Given the description of an element on the screen output the (x, y) to click on. 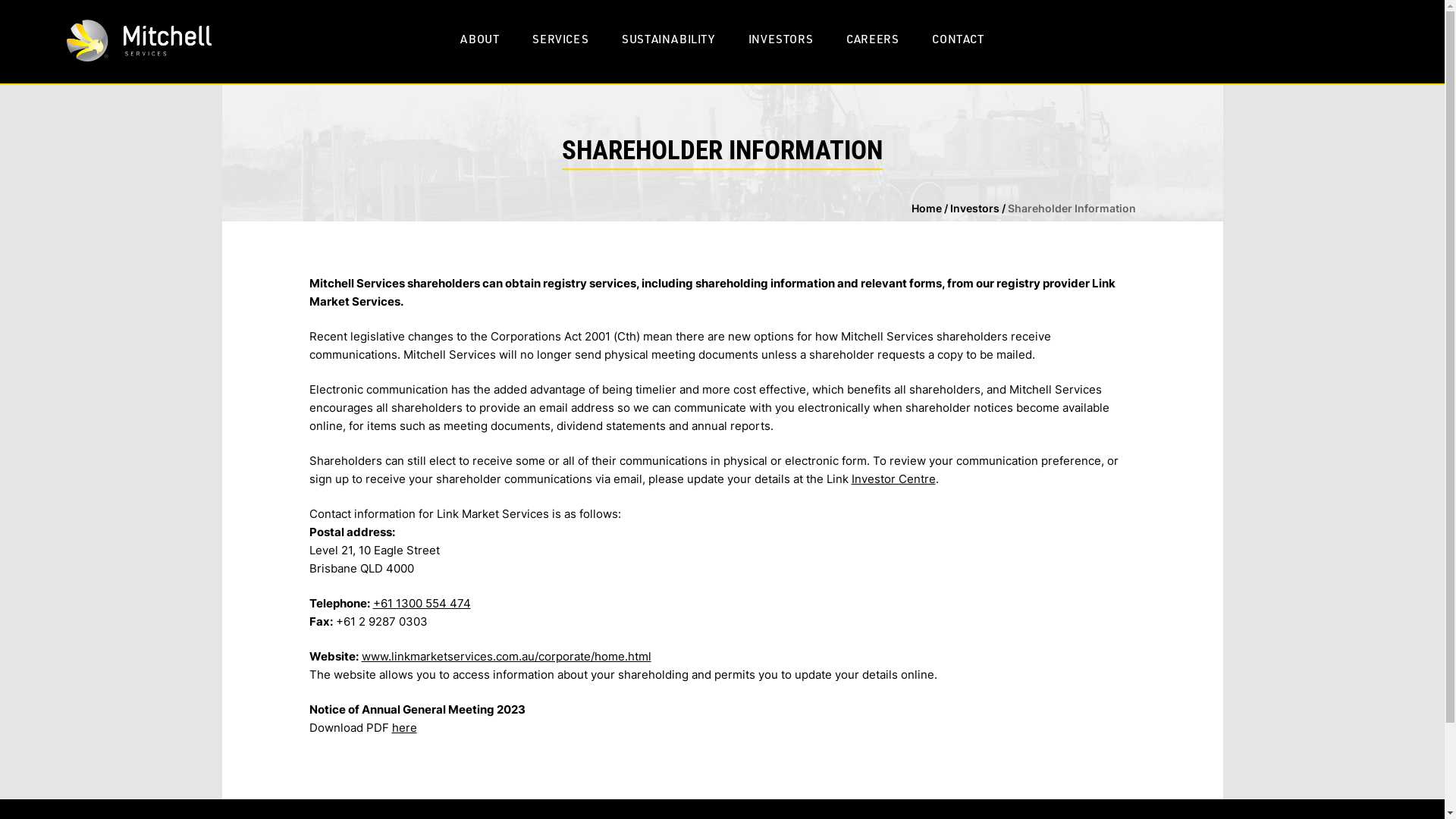
INVESTORS Element type: text (780, 38)
+61 1300 554 474 Element type: text (421, 603)
www.linkmarketservices.com.au/corporate/home.html Element type: text (505, 656)
ABOUT Element type: text (479, 38)
CONTACT Element type: text (957, 38)
Investors Element type: text (973, 207)
Investor Centre Element type: text (892, 478)
CAREERS Element type: text (872, 38)
here Element type: text (403, 727)
SERVICES Element type: text (560, 38)
SUSTAINABILITY Element type: text (667, 38)
Home Element type: text (926, 207)
